Given the description of an element on the screen output the (x, y) to click on. 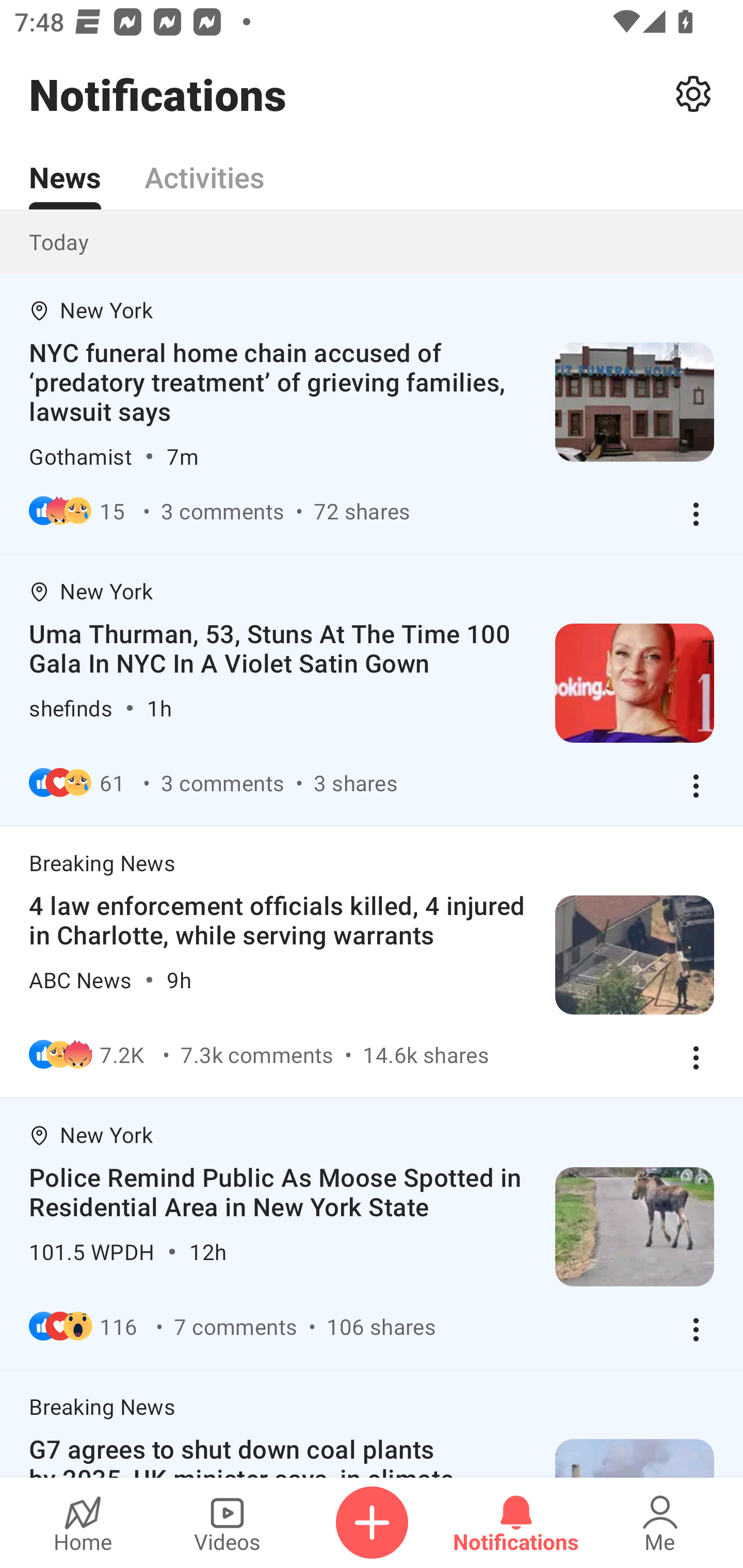
Activities (204, 166)
Home (83, 1522)
Videos (227, 1522)
Me (659, 1522)
